Given the description of an element on the screen output the (x, y) to click on. 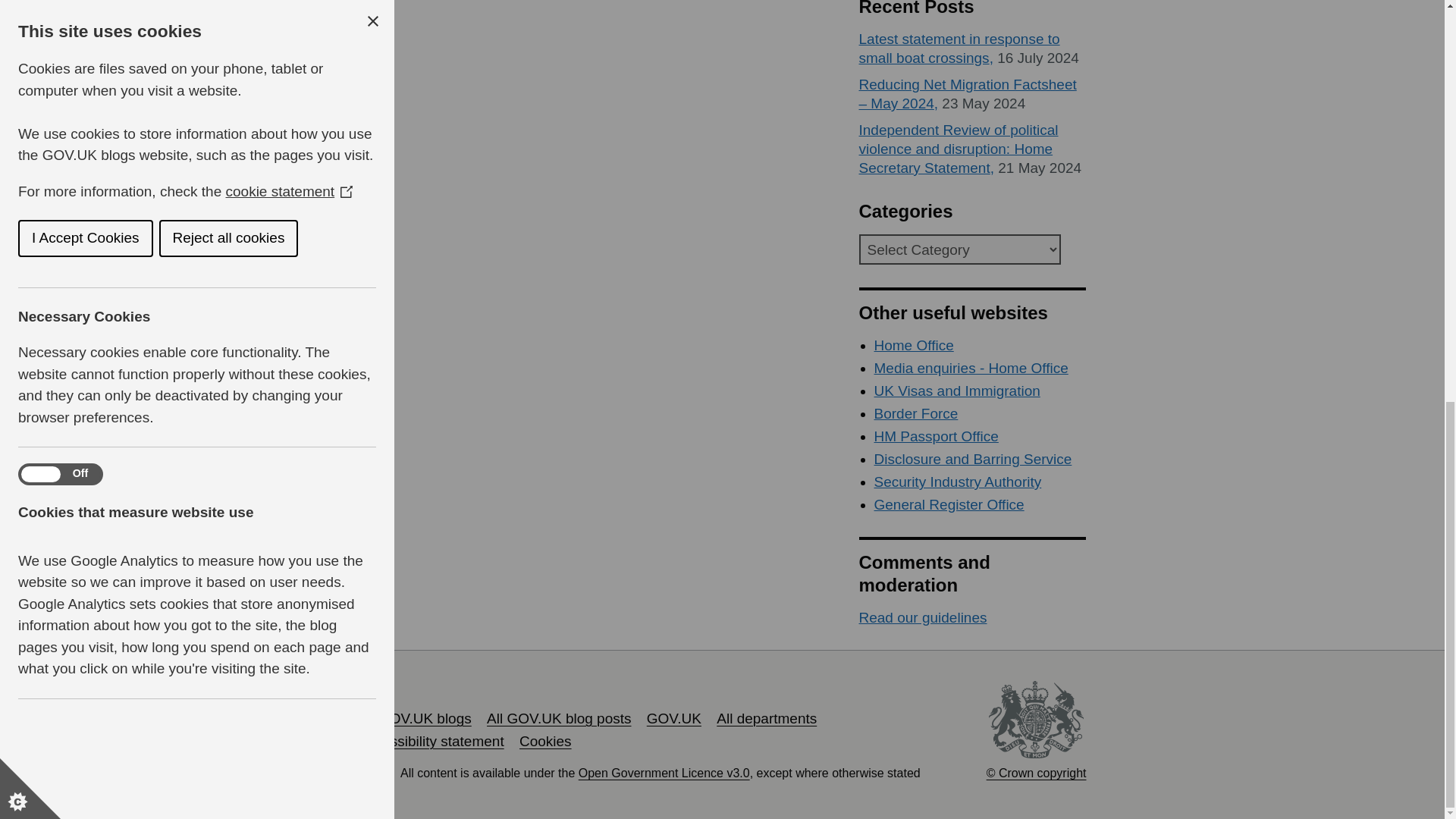
Home Office (913, 344)
Disclosure and Barring Service (972, 458)
Border Force (915, 413)
All GOV.UK blogs (414, 718)
Accessibility statement (430, 741)
All departments (766, 718)
UK Visas and Immigration (956, 390)
Security Industry Authority (957, 481)
General Register Office (948, 504)
Latest statement in response to small boat crossings (959, 48)
All GOV.UK blog posts (558, 718)
Read our guidelines (923, 617)
GOV.UK (673, 718)
HM Passport Office (935, 436)
